Given the description of an element on the screen output the (x, y) to click on. 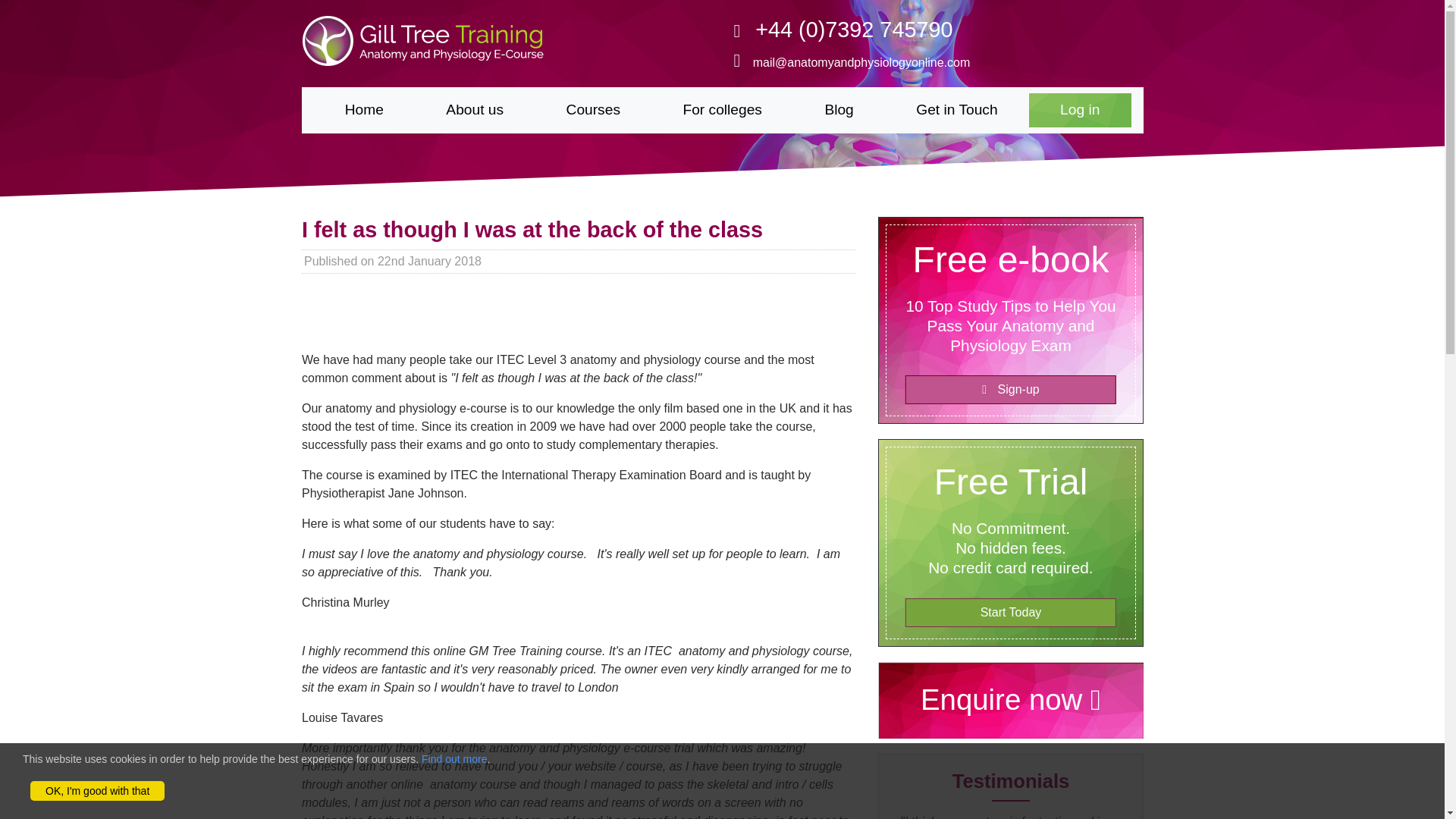
Get in Touch (957, 110)
For colleges (721, 110)
Home (364, 110)
Enquire now (1009, 704)
Blog (839, 110)
Courses (592, 110)
Log in (1080, 110)
Sign-up (1009, 389)
About us (474, 110)
Start Today (1009, 611)
